Given the description of an element on the screen output the (x, y) to click on. 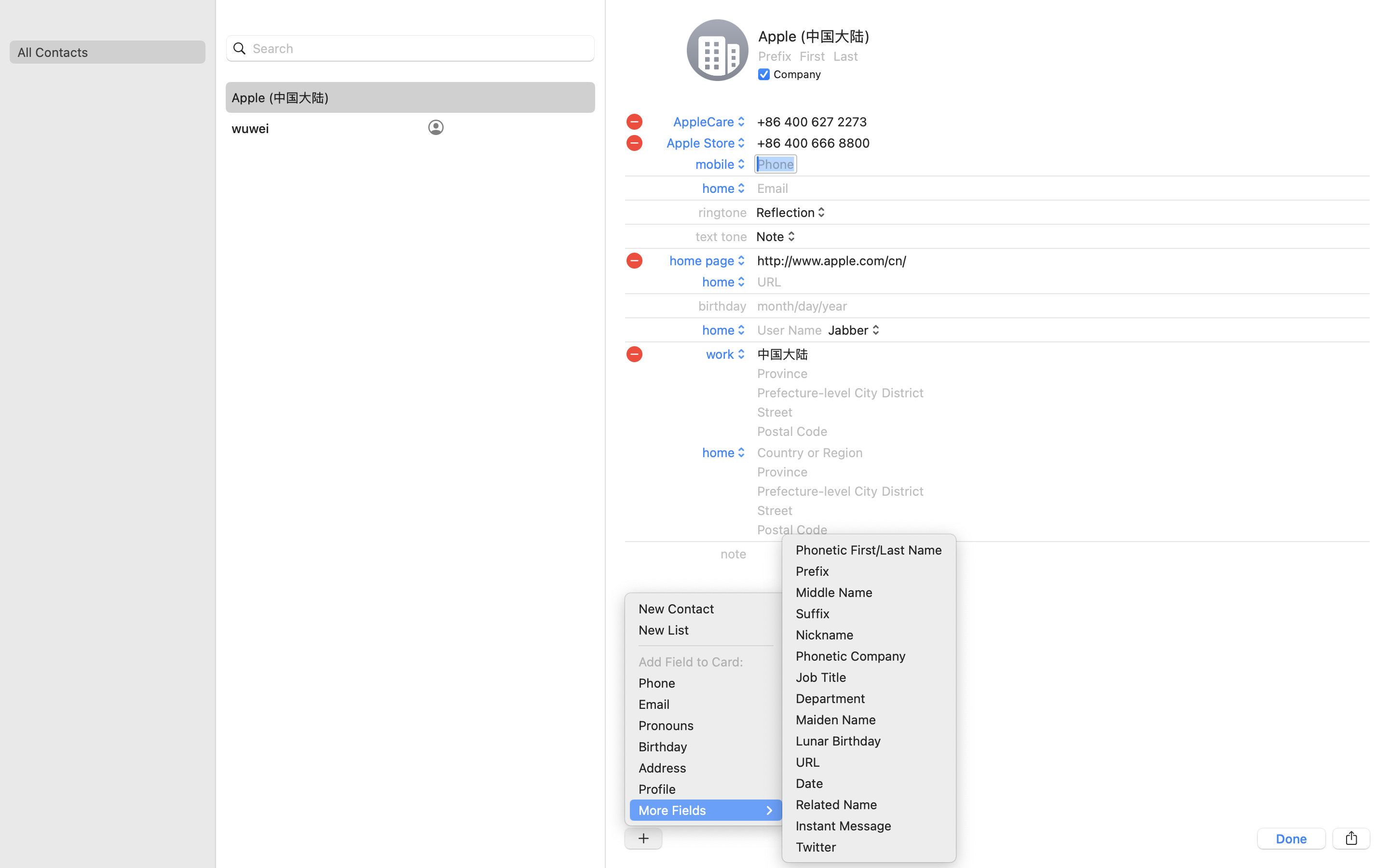
中国大陆 Element type: AXTextField (782, 353)
Apple (中国大陆) Element type: AXStaticText (279, 97)
Apple Store Element type: AXStaticText (706, 142)
mobile Element type: AXStaticText (721, 163)
